Given the description of an element on the screen output the (x, y) to click on. 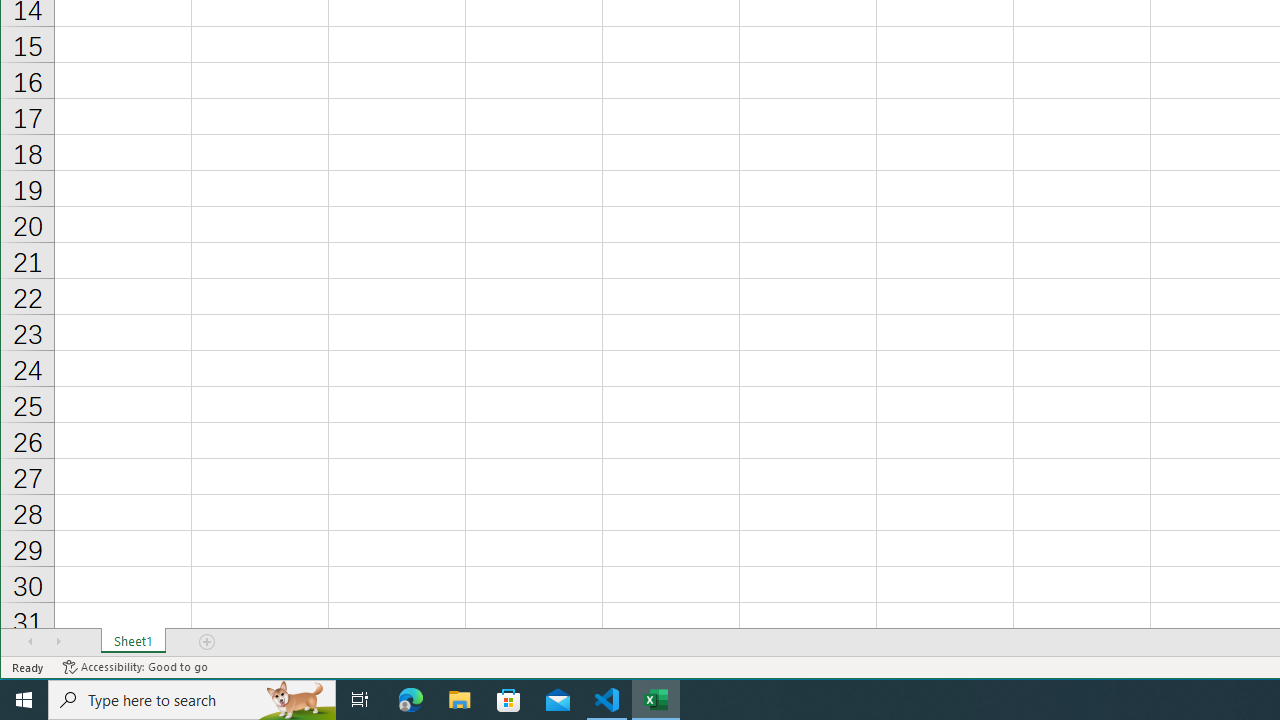
Type here to search (191, 699)
Microsoft Edge (411, 699)
Start (24, 699)
Search highlights icon opens search home window (295, 699)
File Explorer (460, 699)
Microsoft Store (509, 699)
Task View (359, 699)
Excel - 1 running window (656, 699)
Visual Studio Code - 1 running window (607, 699)
